Given the description of an element on the screen output the (x, y) to click on. 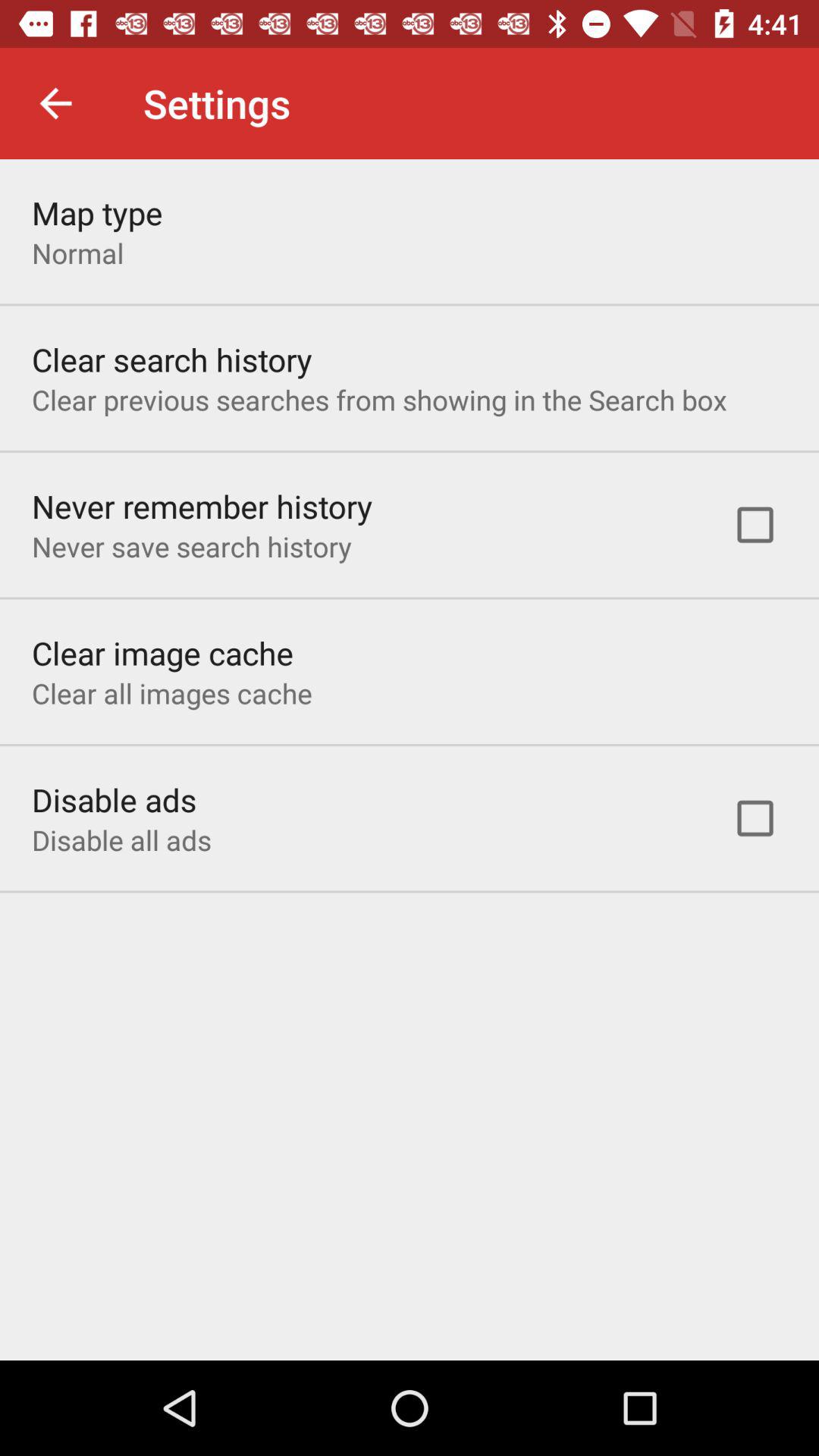
swipe to the clear previous searches (378, 399)
